Given the description of an element on the screen output the (x, y) to click on. 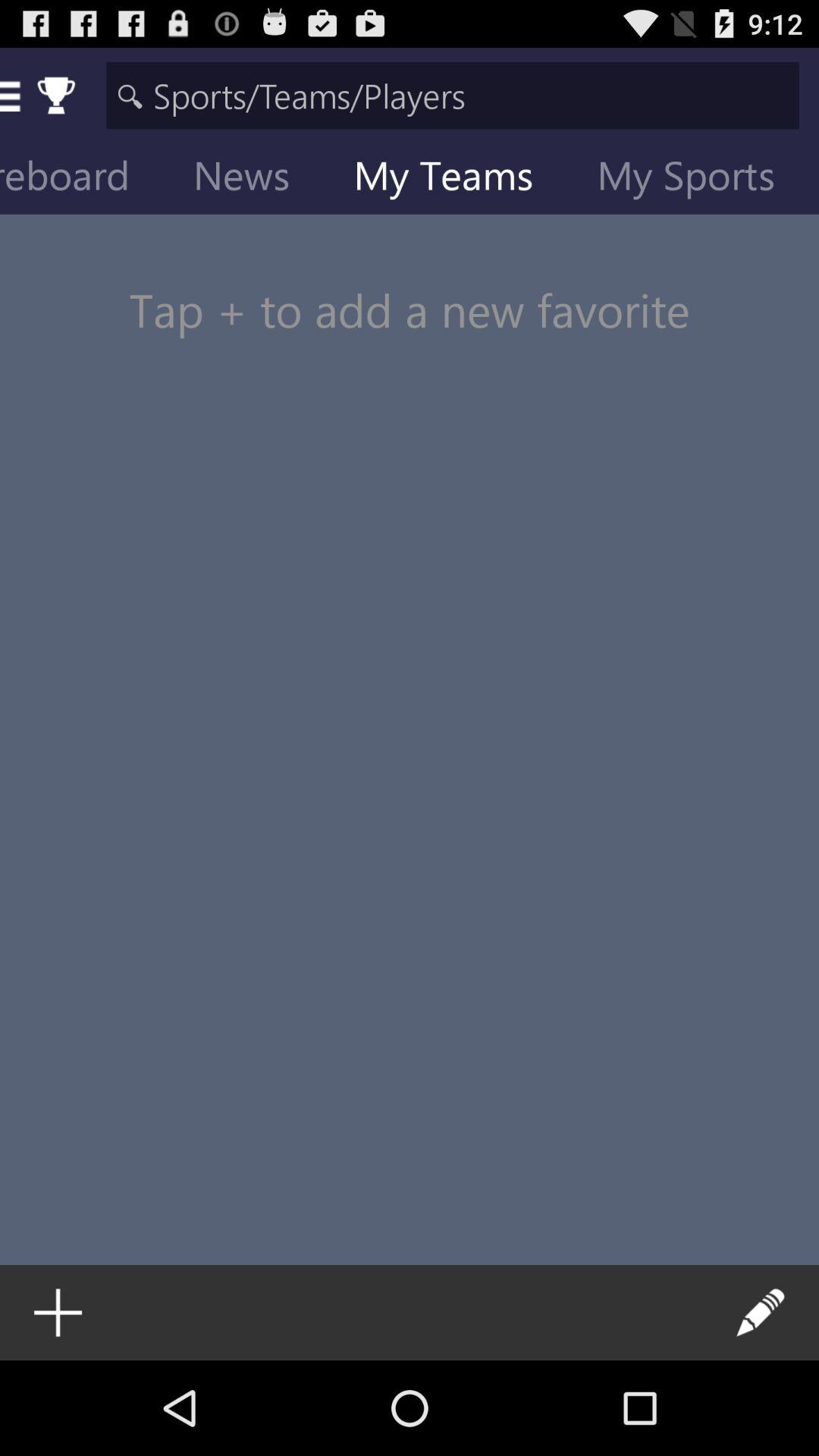
search sports team or players (452, 95)
